Given the description of an element on the screen output the (x, y) to click on. 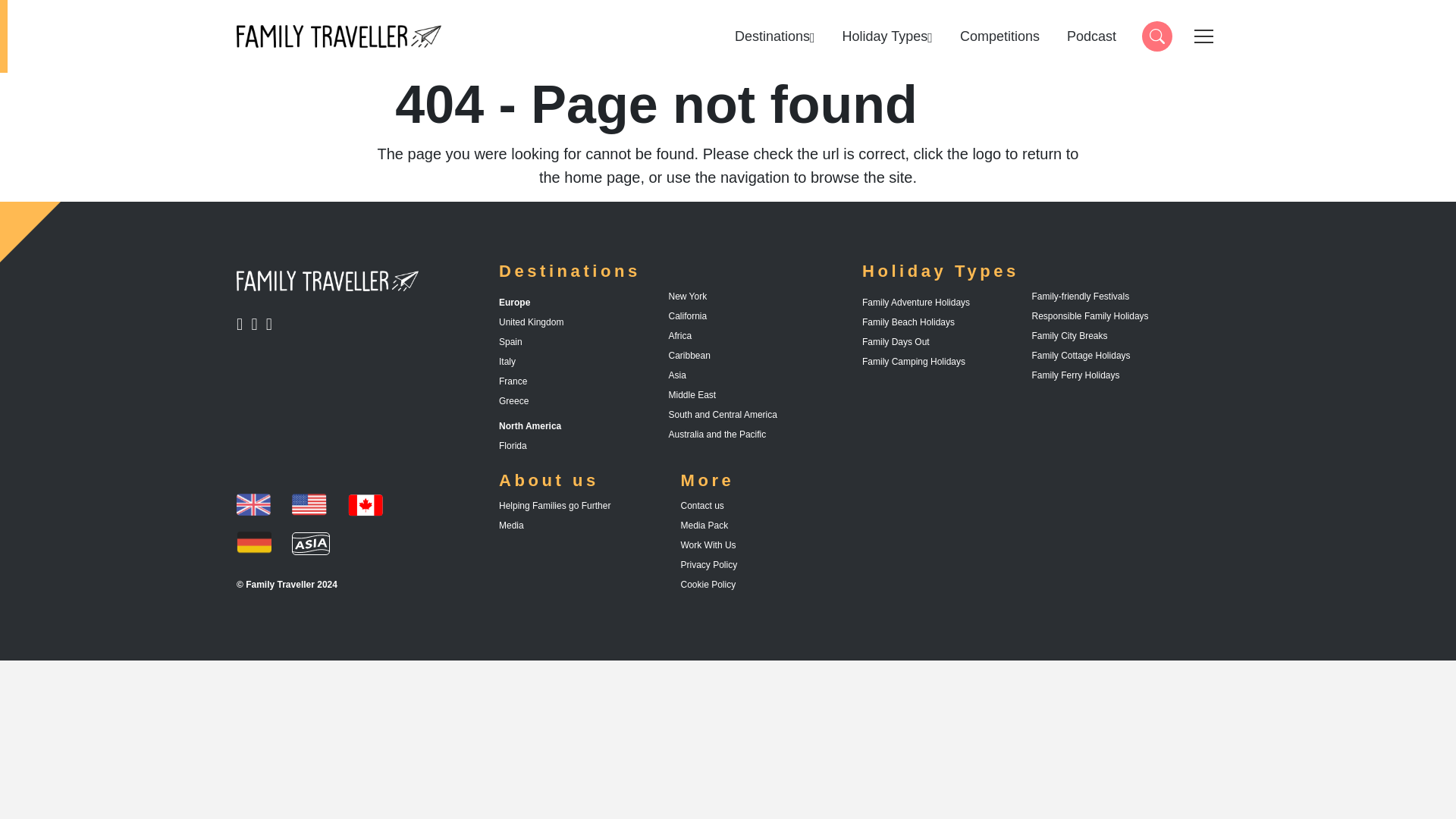
Destinations (775, 36)
Podcast (1091, 36)
Search anything... (242, 324)
Holiday Types (272, 324)
Visit Family Traveller Asia (1156, 36)
Visit Family Traveller UK (257, 324)
Visit Family Traveller DE (887, 36)
